Given the description of an element on the screen output the (x, y) to click on. 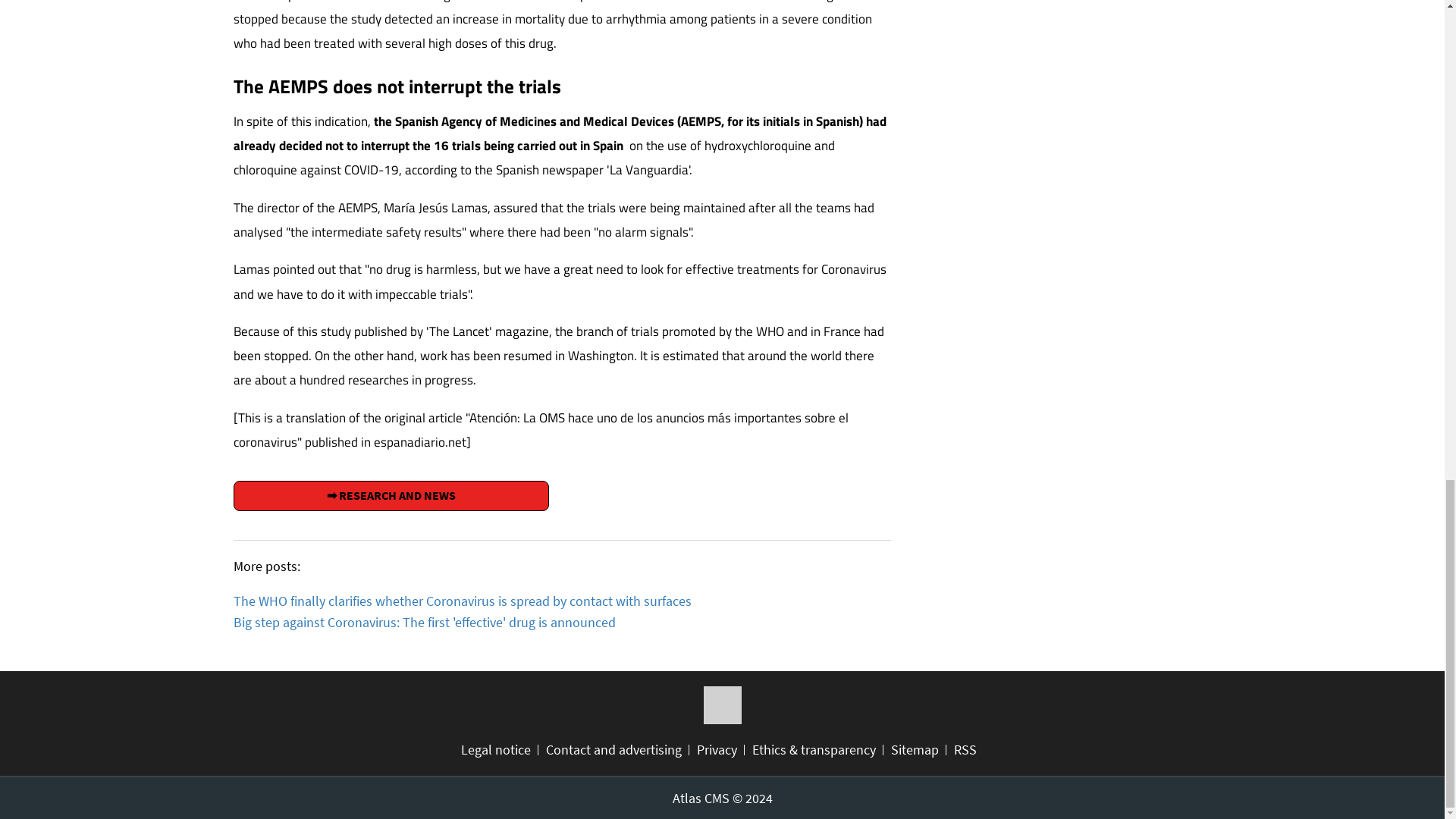
Contact and advertising (617, 749)
Sitemap (916, 749)
Follow us on Google News (722, 704)
ATLAS CMS by tqcorp.media (721, 797)
Legal notice (499, 749)
Legal notice (499, 749)
